Given the description of an element on the screen output the (x, y) to click on. 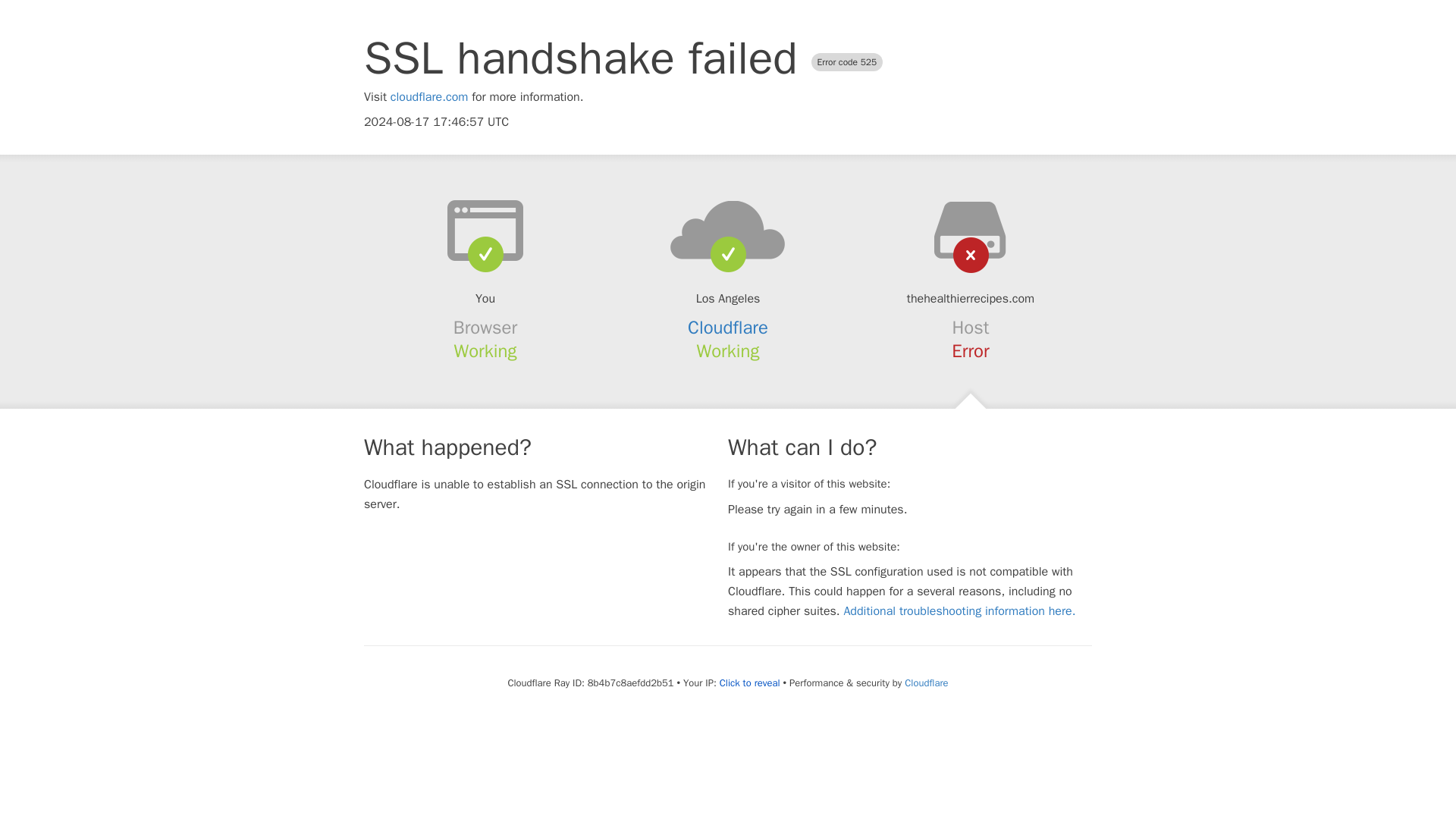
Cloudflare (925, 682)
Cloudflare (727, 327)
Additional troubleshooting information here. (959, 611)
cloudflare.com (429, 96)
Click to reveal (749, 683)
